Given the description of an element on the screen output the (x, y) to click on. 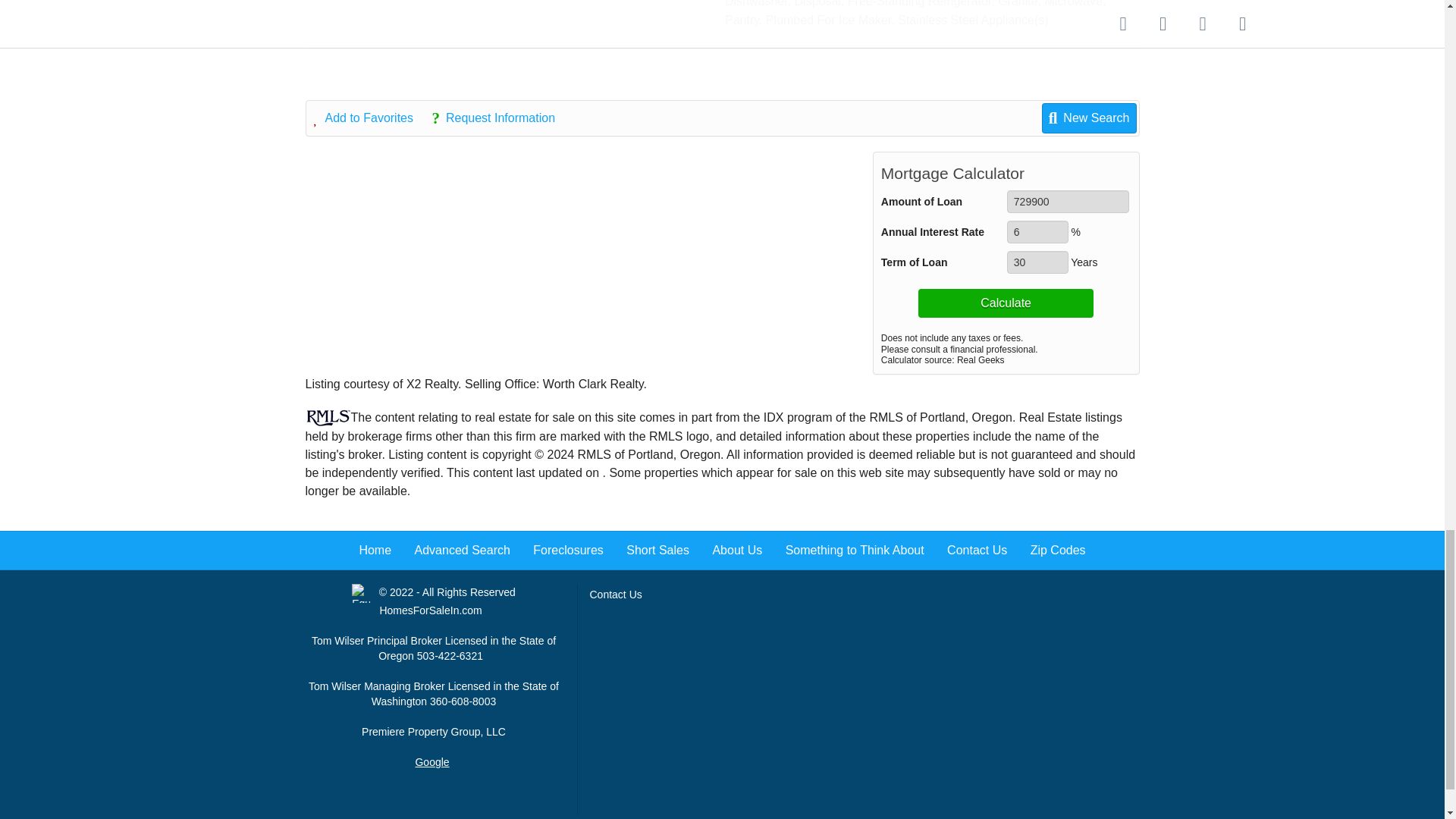
6 (1037, 231)
30 (1037, 261)
729900 (1068, 201)
